Given the description of an element on the screen output the (x, y) to click on. 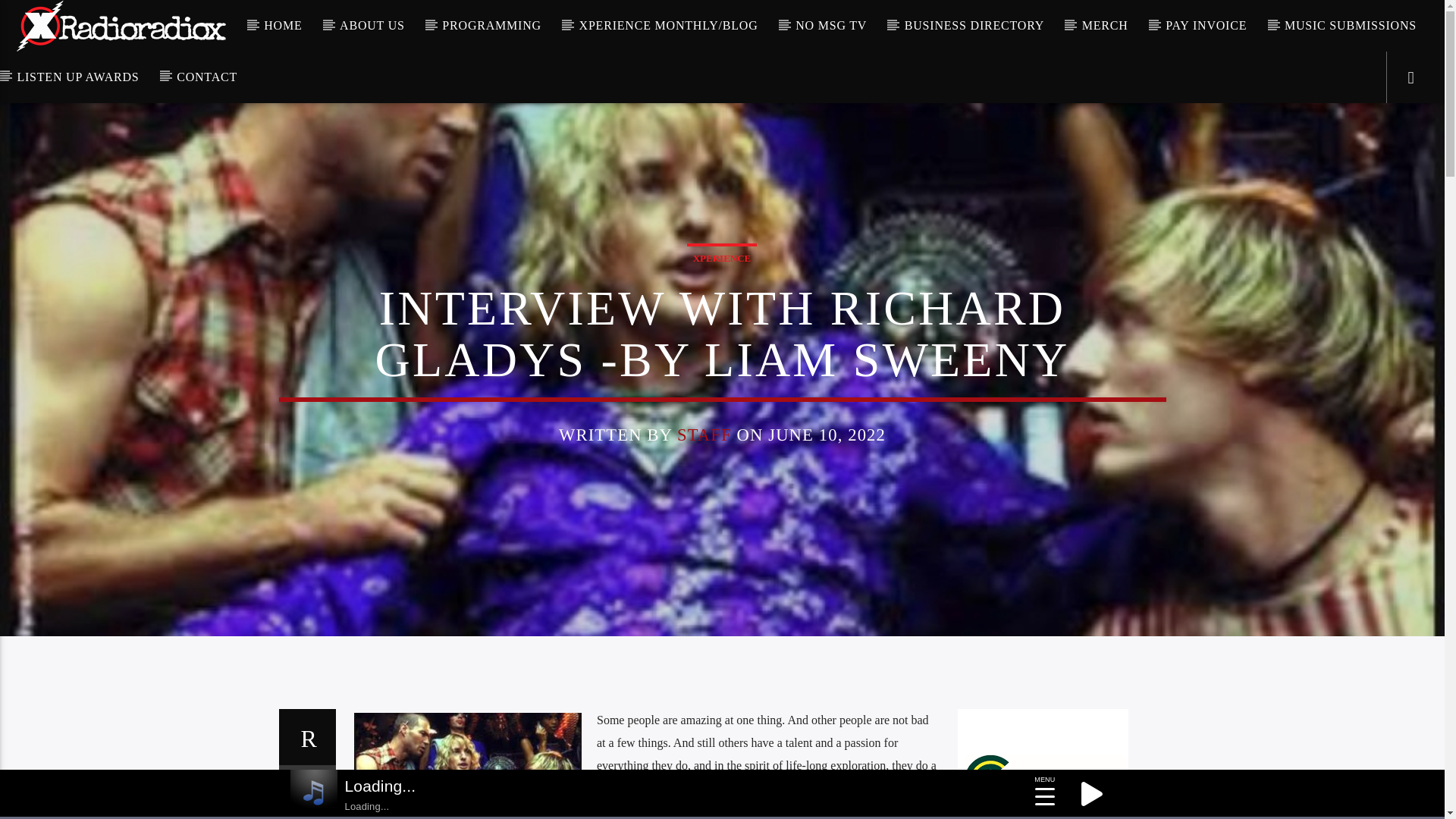
Search (1203, 75)
BUSINESS DIRECTORY (973, 25)
MERCH (1104, 25)
NO MSG TV (830, 25)
LISTEN UP AWARDS (77, 77)
PROGRAMMING (491, 25)
Posts by Staff (704, 434)
ABOUT US (372, 25)
CONTACT (207, 77)
MUSIC SUBMISSIONS (1351, 25)
HOME (282, 25)
PAY INVOICE (1205, 25)
